Given the description of an element on the screen output the (x, y) to click on. 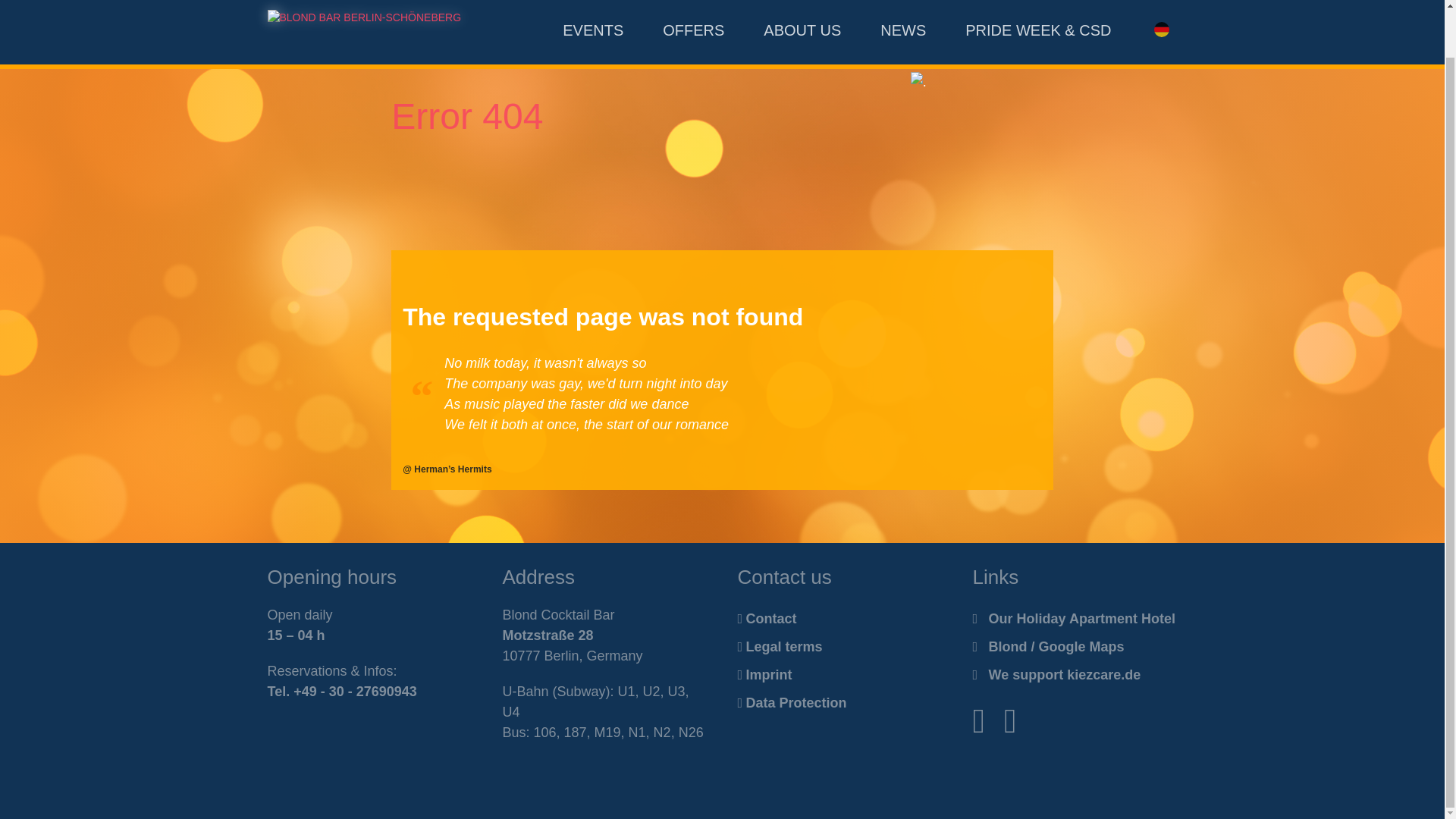
Instagram (1010, 720)
Deutsch (1160, 4)
Contact (839, 619)
EVENTS (592, 4)
  Our Holiday Apartment Hotel (1074, 619)
Imprint (839, 674)
Legal terms (839, 646)
  We support kiezcare.de (1074, 674)
Data Protection (839, 703)
NEWS (903, 4)
OFFERS (693, 4)
facebook (978, 720)
ABOUT US (801, 4)
